Given the description of an element on the screen output the (x, y) to click on. 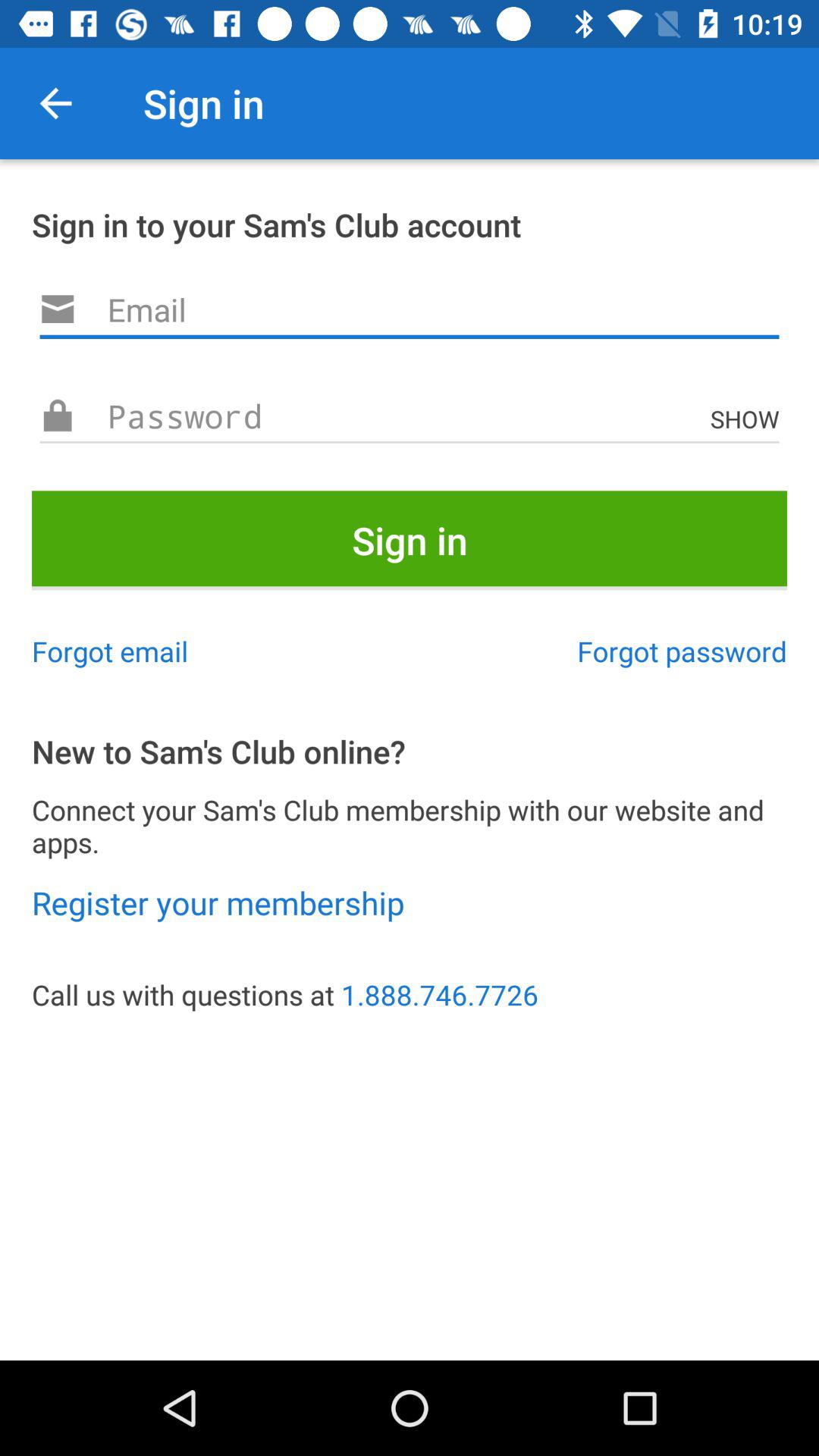
choose the forgot email (109, 650)
